Given the description of an element on the screen output the (x, y) to click on. 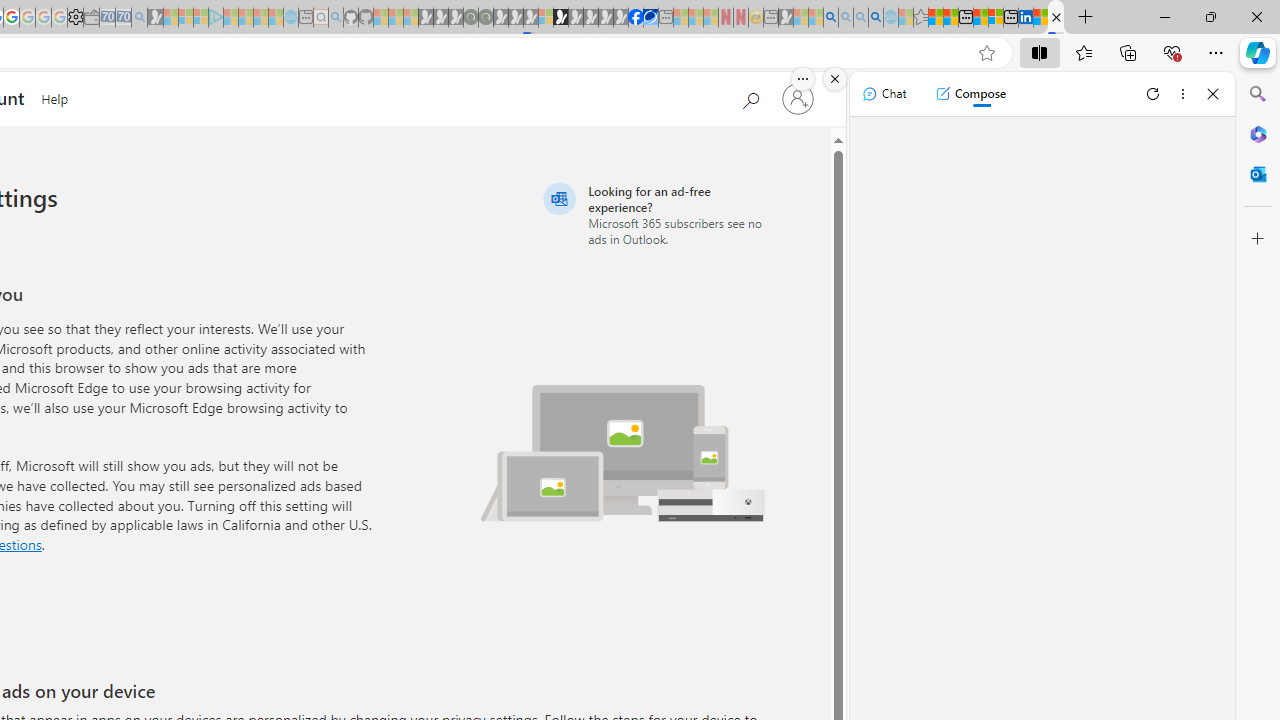
Sign in to your account (797, 98)
AQI & Health | AirNow.gov (650, 17)
Sign in to your account - Sleeping (545, 17)
Favorites - Sleeping (920, 17)
Chat (884, 93)
Compose (970, 93)
